Given the description of an element on the screen output the (x, y) to click on. 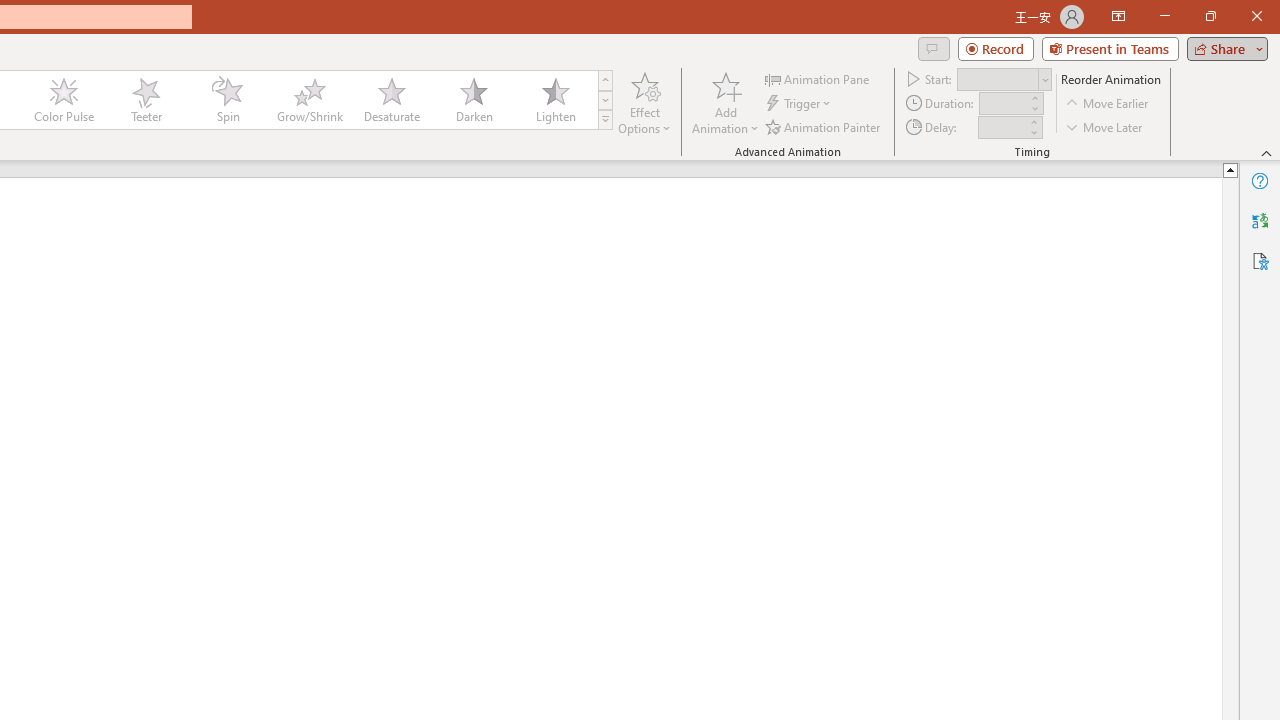
Add Animation (725, 102)
Effect Options (644, 102)
Teeter (145, 100)
Animation Delay (1002, 127)
